Given the description of an element on the screen output the (x, y) to click on. 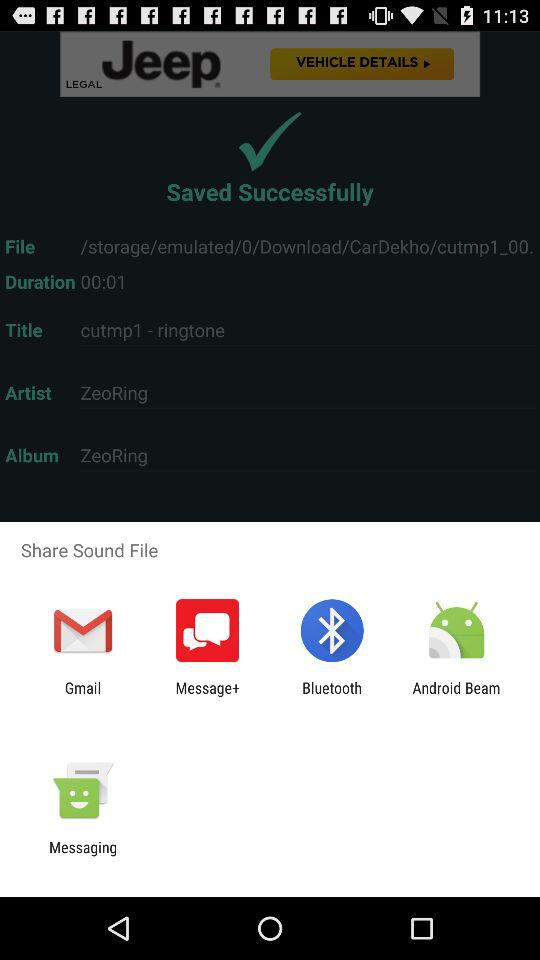
press messaging (83, 856)
